Given the description of an element on the screen output the (x, y) to click on. 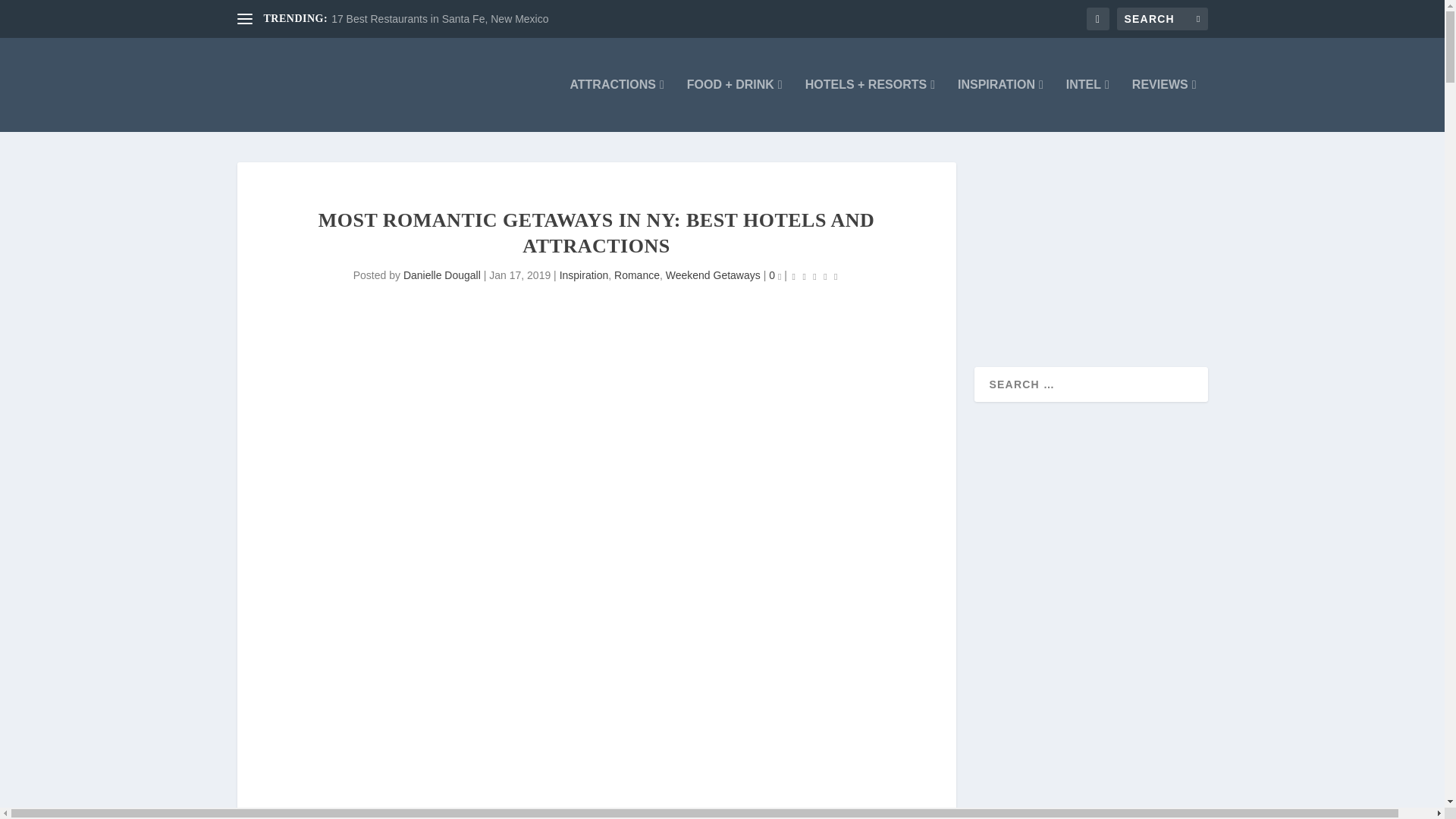
ATTRACTIONS (616, 104)
Rating: 0.00 (815, 275)
INSPIRATION (1000, 104)
17 Best Restaurants in Santa Fe, New Mexico (439, 19)
Search for: (1161, 18)
Posts by Danielle Dougall (441, 275)
